Given the description of an element on the screen output the (x, y) to click on. 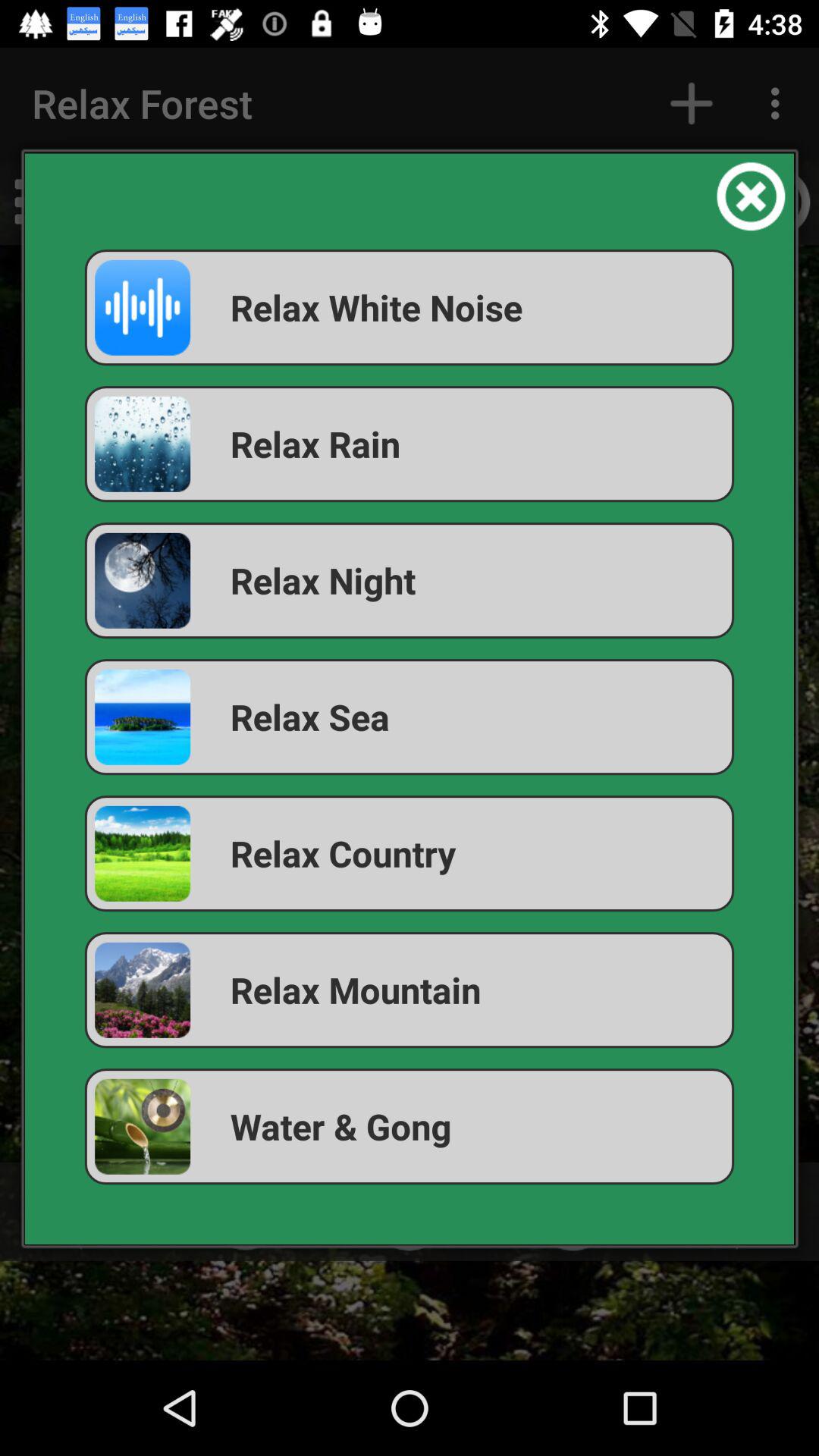
press item above the relax mountain icon (409, 853)
